Given the description of an element on the screen output the (x, y) to click on. 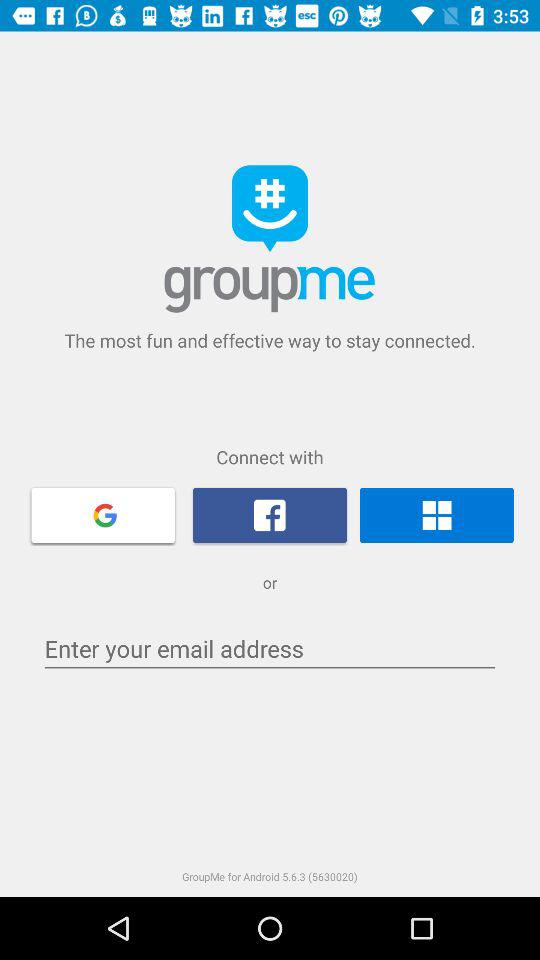
connect with facebook account (269, 515)
